Given the description of an element on the screen output the (x, y) to click on. 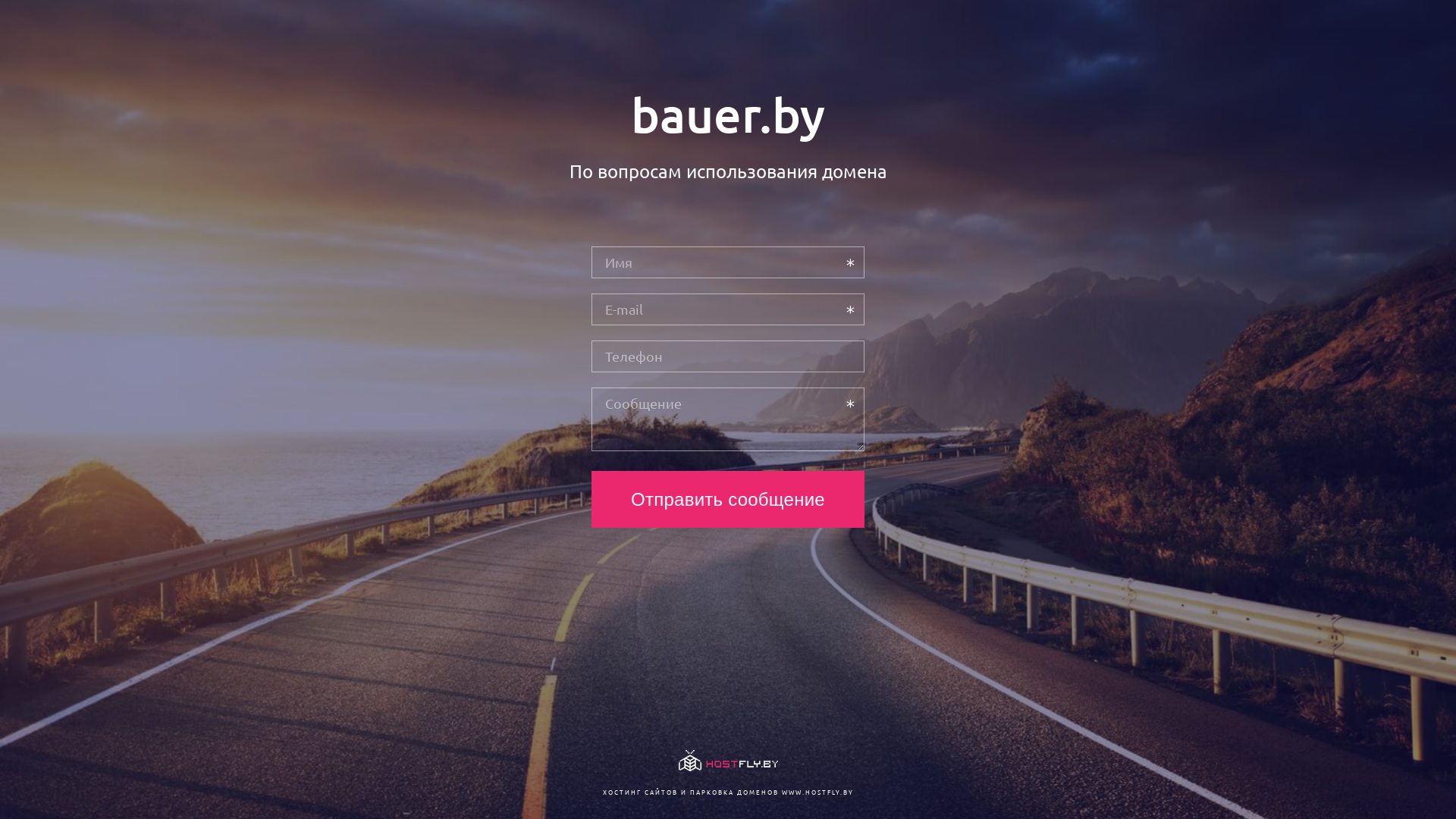
WWW.HOSTFLY.BY Element type: text (817, 791)
